Given the description of an element on the screen output the (x, y) to click on. 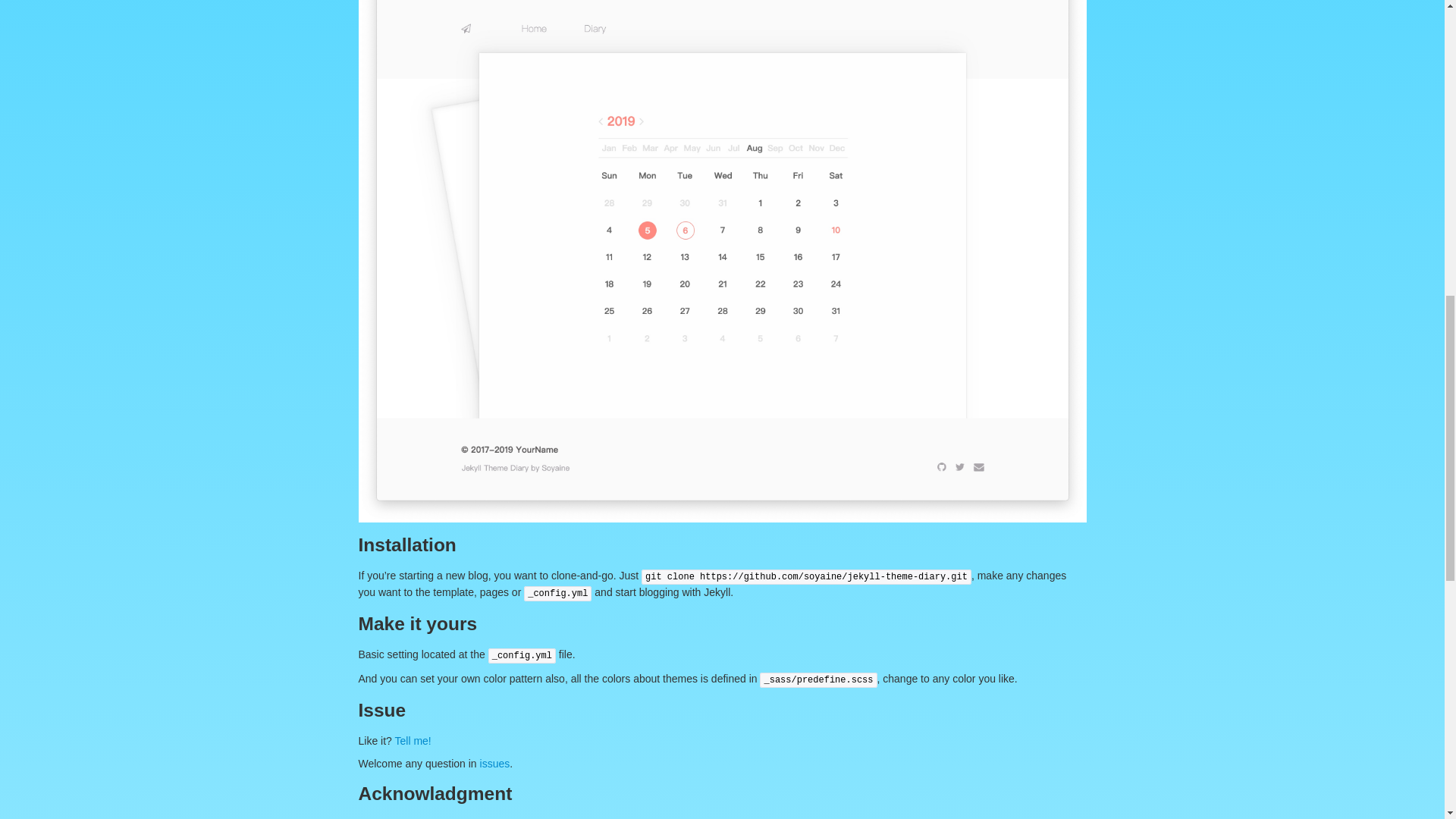
issues (495, 763)
Tell me! (412, 740)
